Given the description of an element on the screen output the (x, y) to click on. 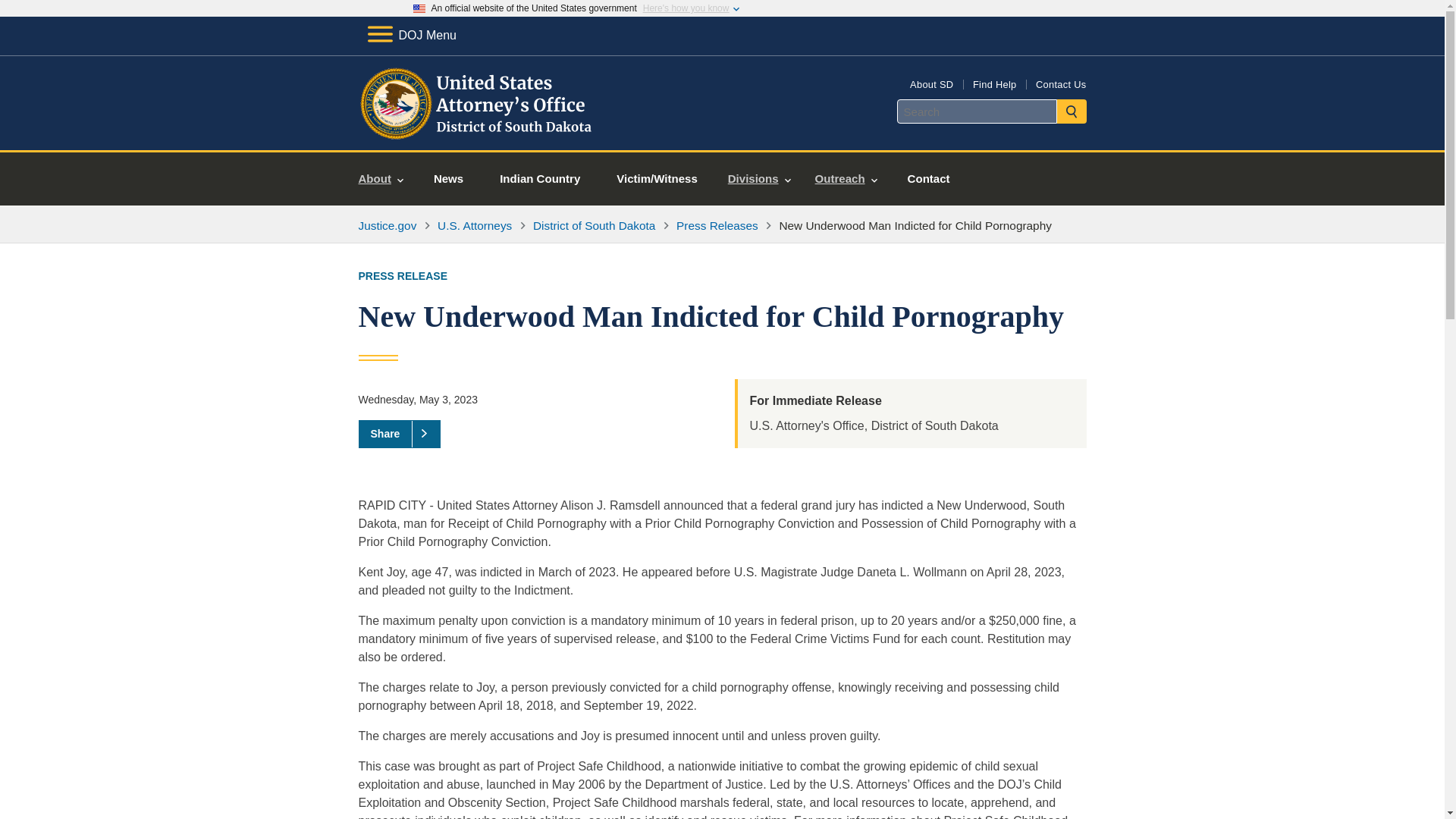
Divisions (759, 179)
District of South Dakota (593, 225)
Press Releases (717, 225)
DOJ Menu (411, 35)
Contact (928, 179)
U.S. Attorneys (475, 225)
Here's how you know (686, 8)
Indian Country (539, 179)
Justice.gov (387, 225)
Find Help (994, 84)
